Given the description of an element on the screen output the (x, y) to click on. 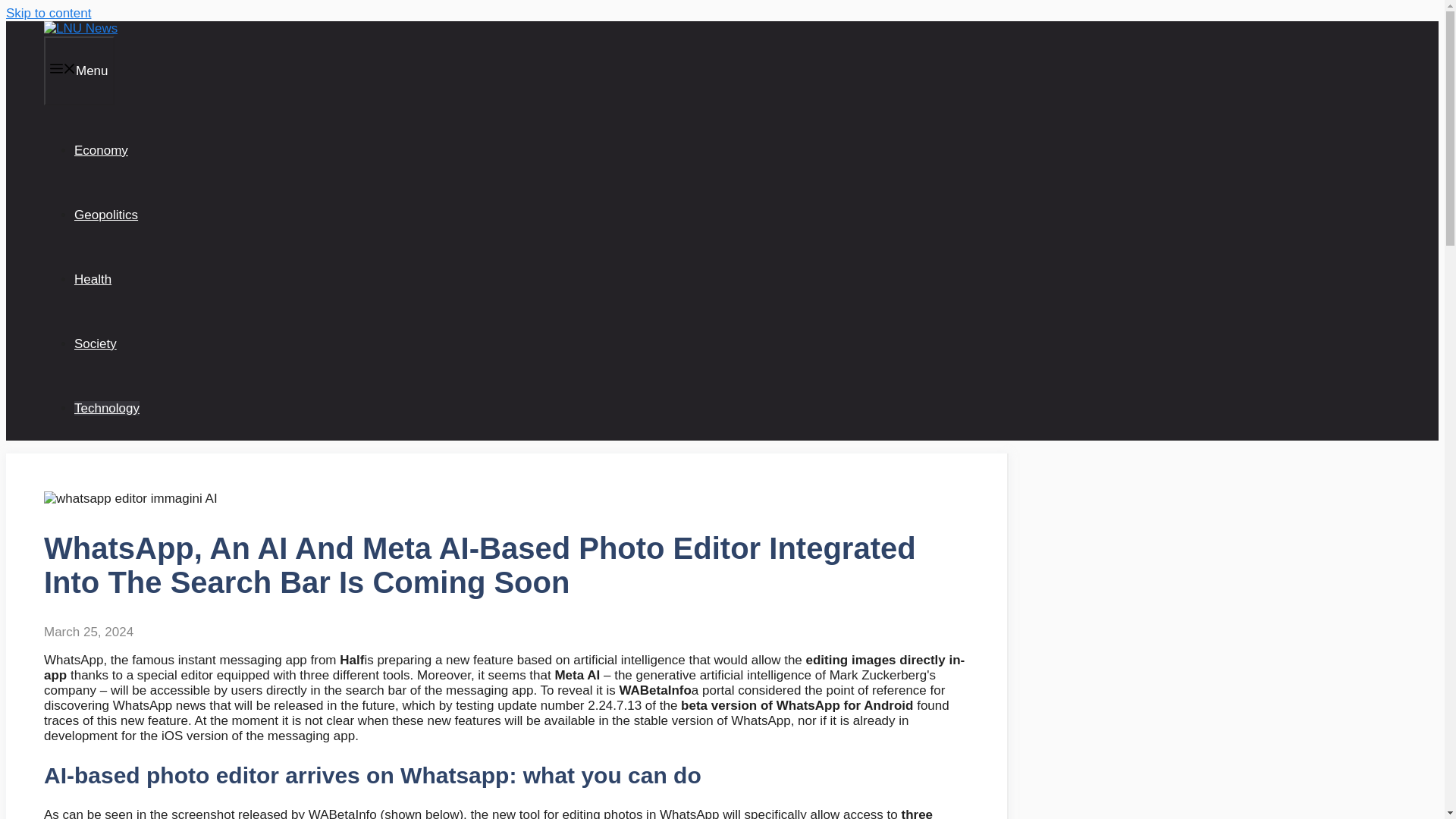
Skip to content (47, 12)
Society (95, 343)
Economy (101, 150)
Health (93, 278)
LNU News (80, 28)
Geopolitics (106, 214)
Skip to content (47, 12)
Technology (106, 408)
LNU News (80, 28)
Menu (79, 70)
